Given the description of an element on the screen output the (x, y) to click on. 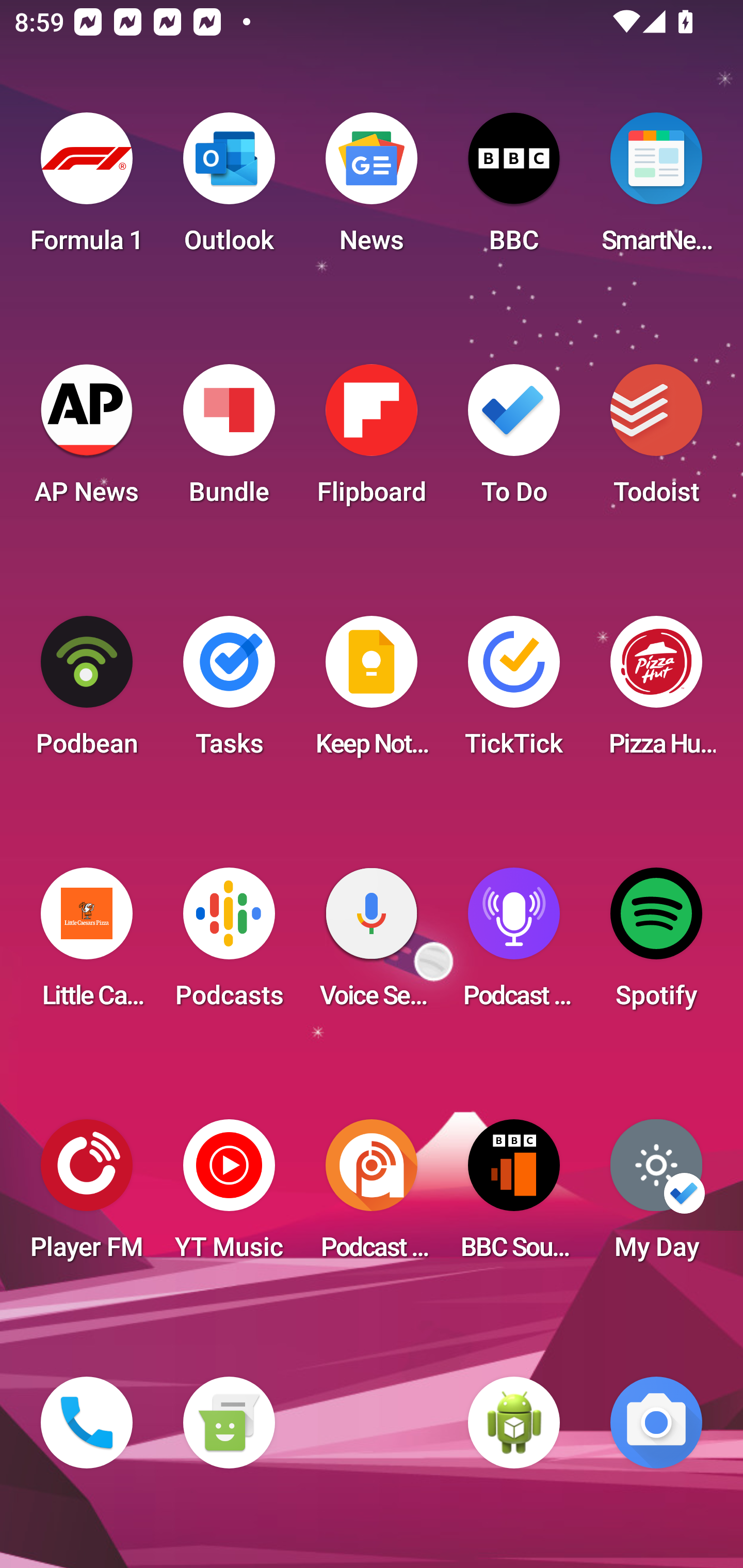
Formula 1 (86, 188)
Outlook (228, 188)
News (371, 188)
BBC (513, 188)
SmartNews (656, 188)
AP News (86, 440)
Bundle (228, 440)
Flipboard (371, 440)
To Do (513, 440)
Todoist (656, 440)
Podbean (86, 692)
Tasks (228, 692)
Keep Notes (371, 692)
TickTick (513, 692)
Pizza Hut HK & Macau (656, 692)
Little Caesars Pizza (86, 943)
Podcasts (228, 943)
Voice Search (371, 943)
Podcast Player (513, 943)
Spotify (656, 943)
Player FM (86, 1195)
YT Music (228, 1195)
Podcast Addict (371, 1195)
BBC Sounds (513, 1195)
My Day (656, 1195)
Phone (86, 1422)
Messaging (228, 1422)
WebView Browser Tester (513, 1422)
Camera (656, 1422)
